Given the description of an element on the screen output the (x, y) to click on. 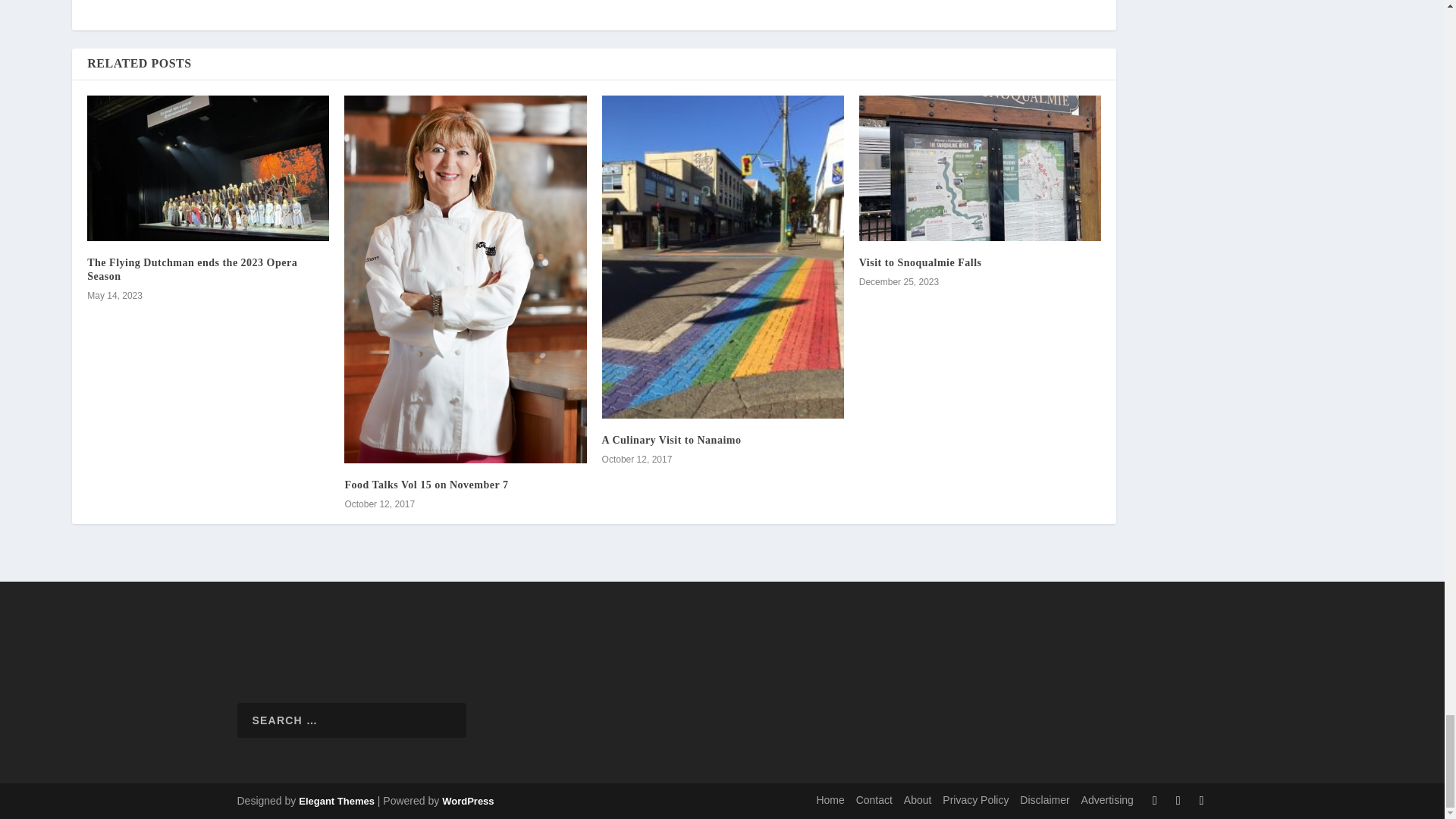
Visit to Snoqualmie Falls (979, 167)
Food Talks Vol 15 on November 7 (425, 484)
Premium WordPress Themes (336, 800)
The Flying Dutchman ends the 2023 Opera Season (208, 167)
The Flying Dutchman ends the 2023 Opera Season (192, 269)
A Culinary Visit to Nanaimo (671, 439)
